Given the description of an element on the screen output the (x, y) to click on. 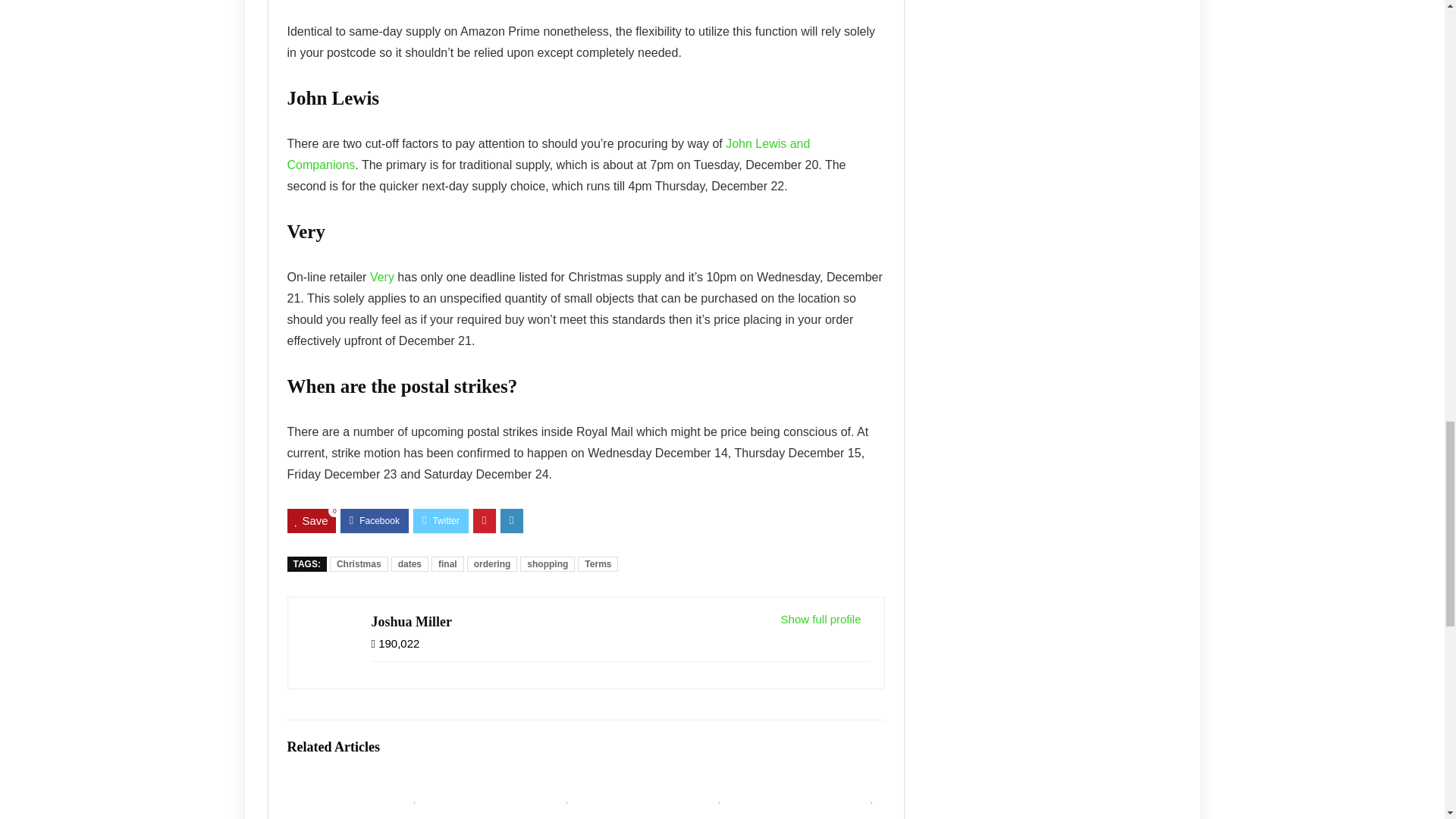
dates (409, 563)
John Lewis and Companions (547, 154)
ordering (492, 563)
Christmas (359, 563)
final (447, 563)
Very (381, 277)
shopping (547, 563)
